Given the description of an element on the screen output the (x, y) to click on. 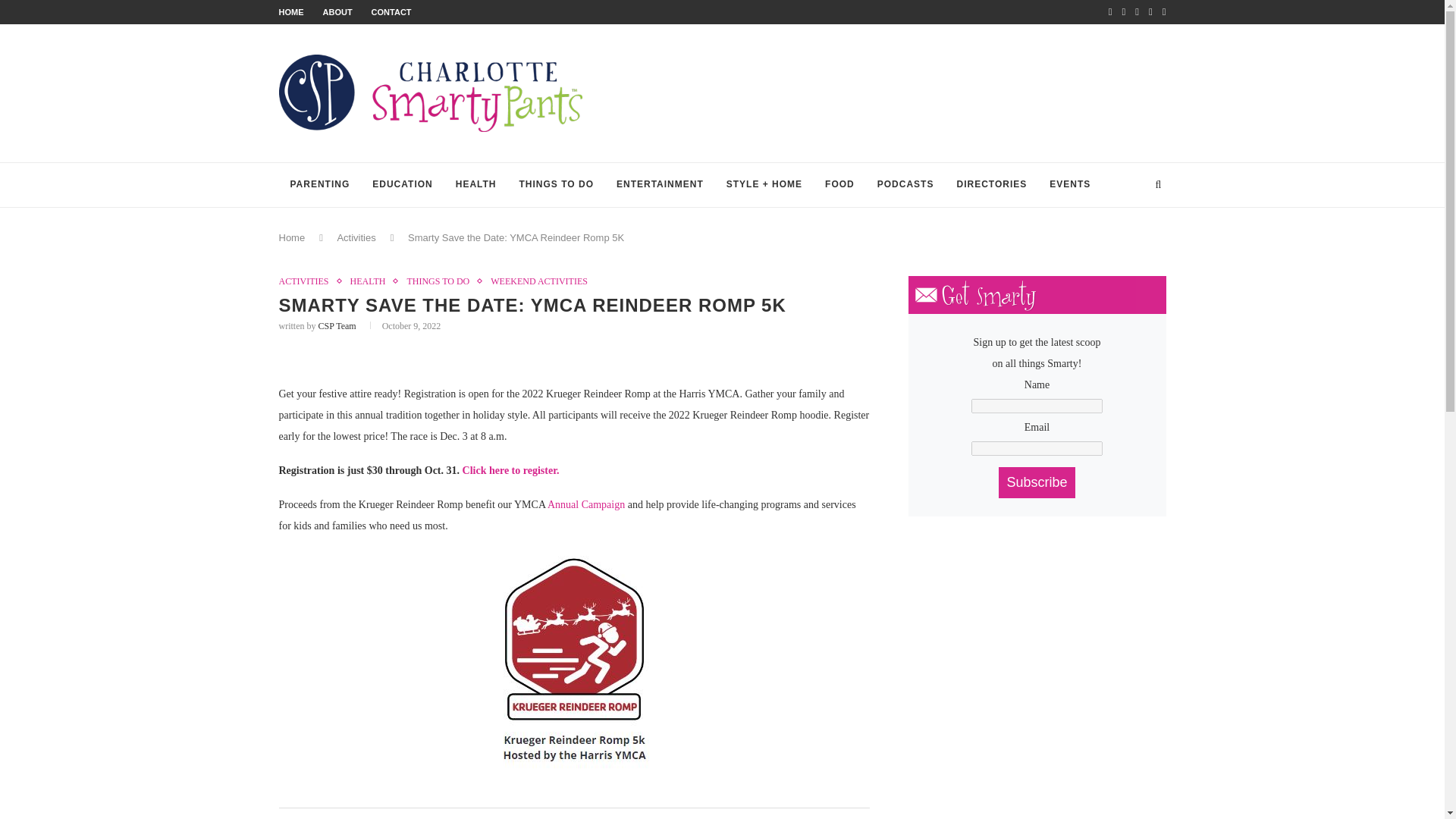
HOME (291, 11)
THINGS TO DO (556, 185)
EDUCATION (402, 185)
CONTACT (391, 11)
DIRECTORIES (991, 185)
ABOUT (337, 11)
HEALTH (476, 185)
WEEKEND ACTIVITIES (539, 281)
EVENTS (1070, 185)
HEALTH (371, 281)
